Given the description of an element on the screen output the (x, y) to click on. 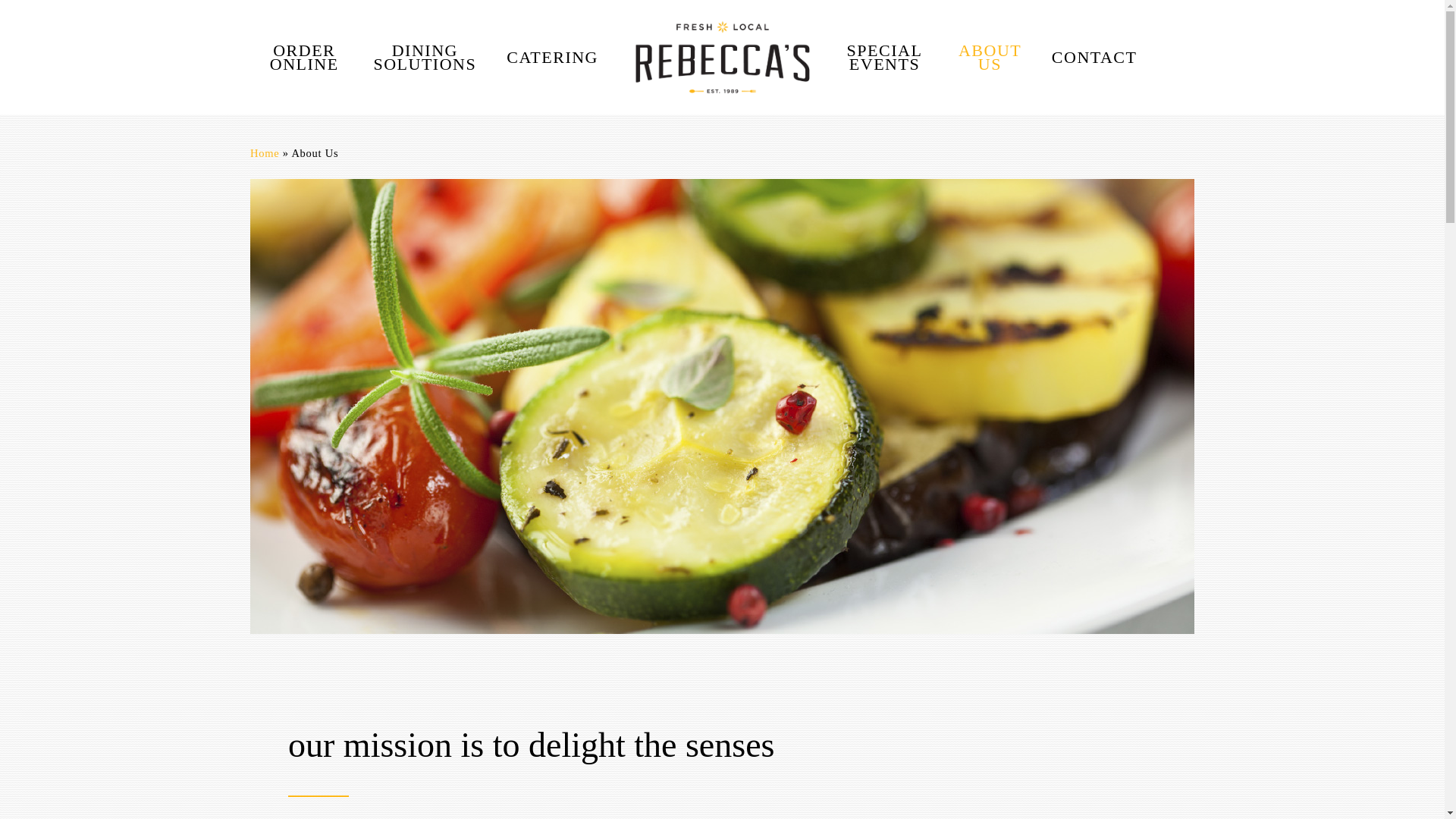
DINING SOLUTIONS (425, 57)
ABOUT US (989, 57)
CATERING (552, 56)
ORDER ONLINE (304, 57)
CONTACT (1094, 56)
SPECIAL EVENTS (884, 57)
Home (264, 152)
